Given the description of an element on the screen output the (x, y) to click on. 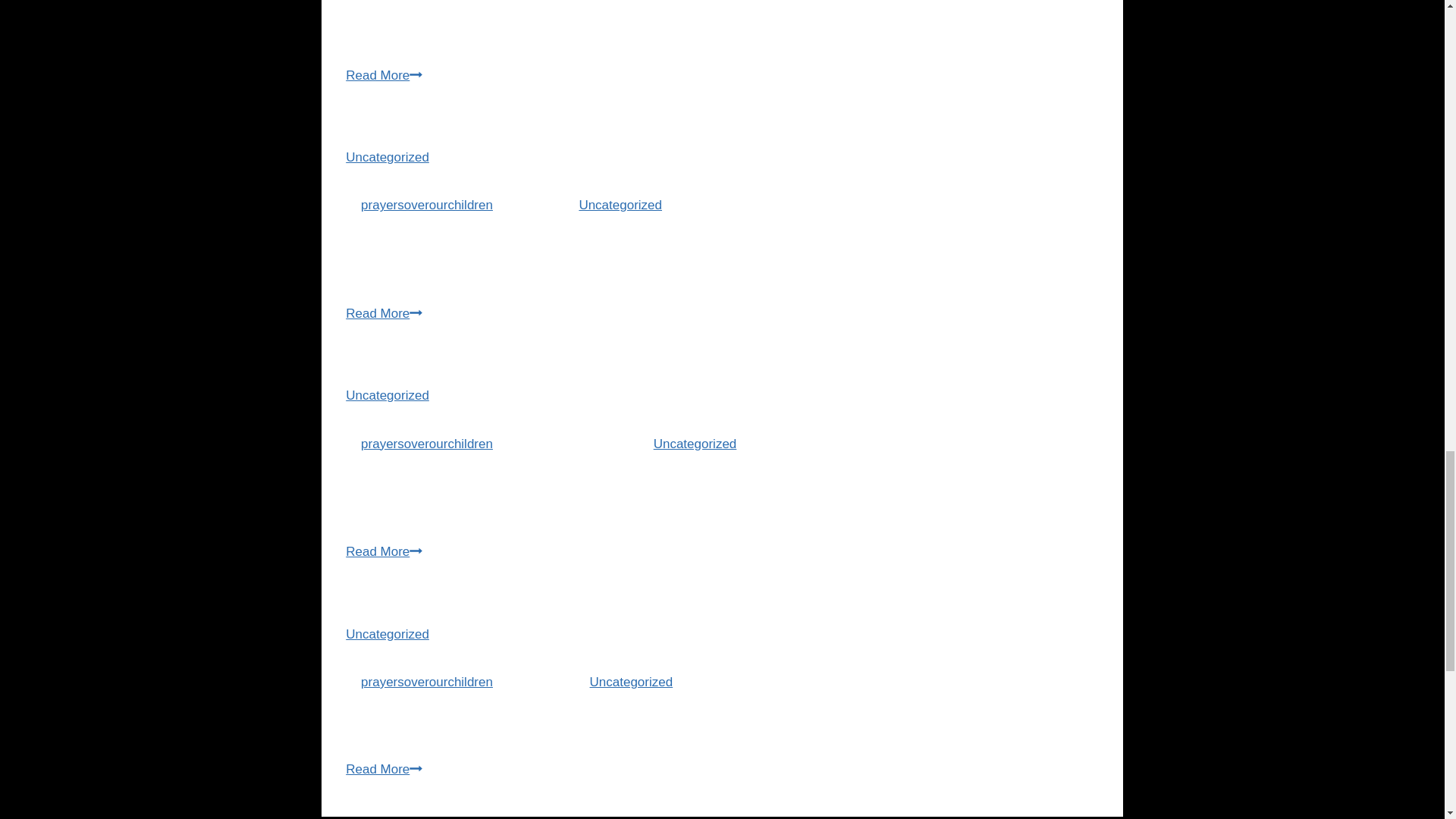
prayersoverourchildren (427, 443)
Uncategorized (620, 205)
Uncategorized (387, 395)
Uncategorized (694, 443)
prayersoverourchildren (427, 205)
Uncategorized (387, 156)
